Given the description of an element on the screen output the (x, y) to click on. 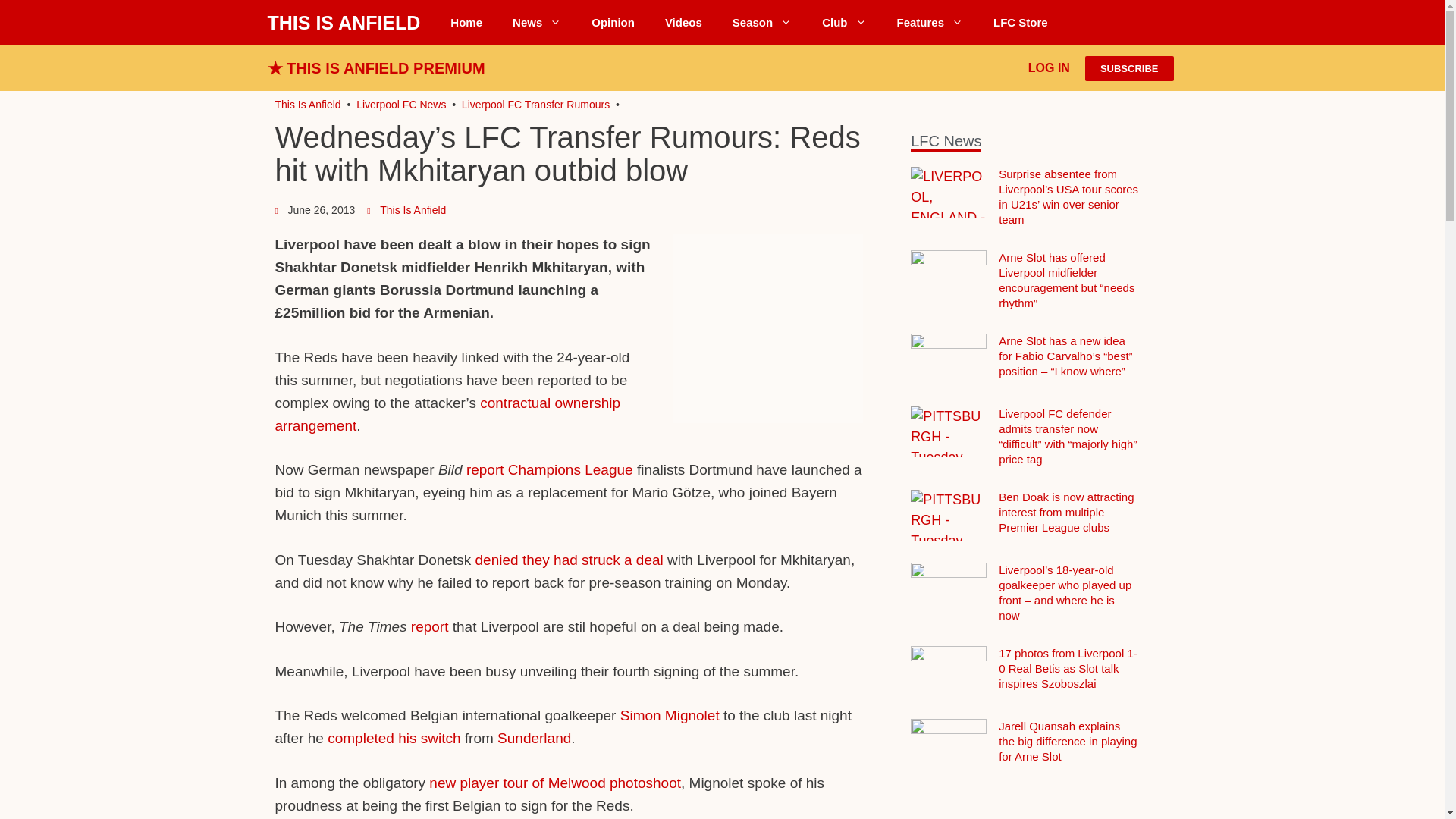
Liverpool FC Videos (683, 22)
Features (929, 22)
Liverpool FC Opinion (612, 22)
Liverpool FC Features (929, 22)
Liverpool FC News (536, 22)
Go to the Liverpool FC News category archives. (400, 104)
Go to the Liverpool FC Transfer Rumours category archives. (535, 104)
Club (843, 22)
Home (466, 22)
News (536, 22)
Season (761, 22)
THIS IS ANFIELD (343, 22)
Liverpool FC (307, 104)
Opinion (612, 22)
Videos (683, 22)
